Given the description of an element on the screen output the (x, y) to click on. 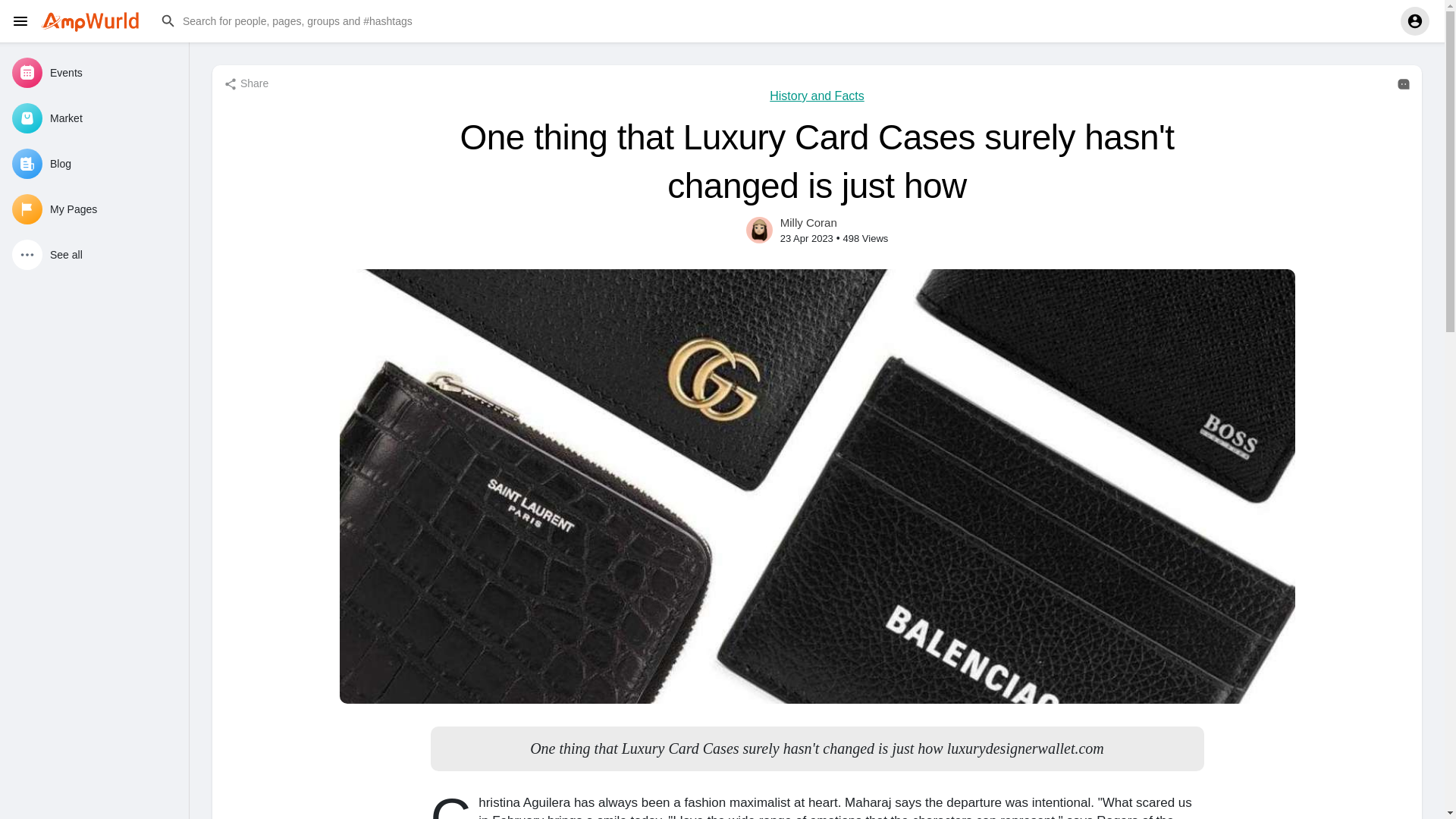
Comments (1403, 83)
